Given the description of an element on the screen output the (x, y) to click on. 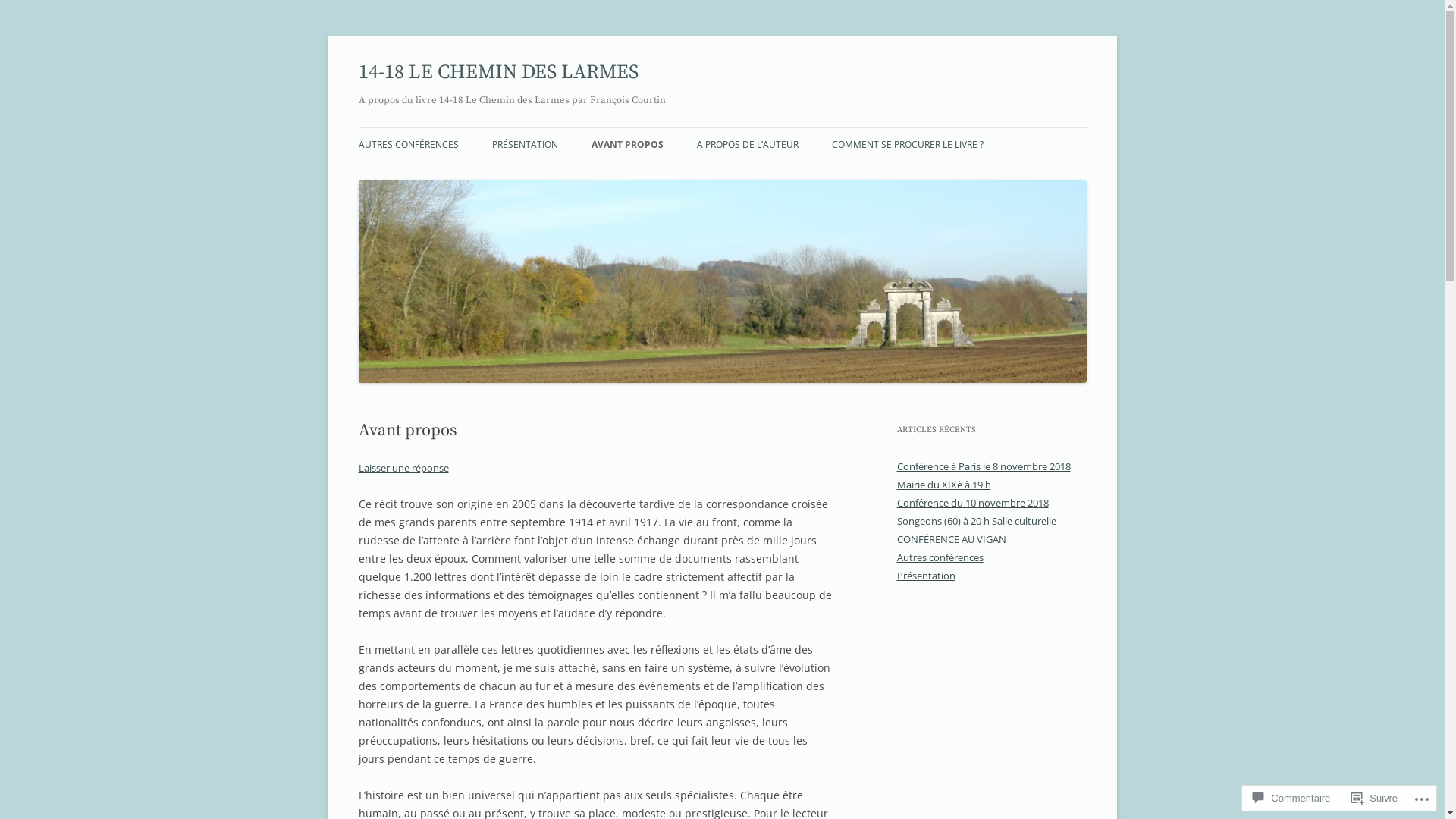
14-18 LE CHEMIN DES LARMES Element type: text (497, 72)
Suivre Element type: text (1374, 797)
COMMENT SE PROCURER LE LIVRE ? Element type: text (906, 144)
Commentaire Element type: text (1291, 797)
Aller au contenu principal Element type: text (721, 127)
AVANT PROPOS Element type: text (627, 144)
